Given the description of an element on the screen output the (x, y) to click on. 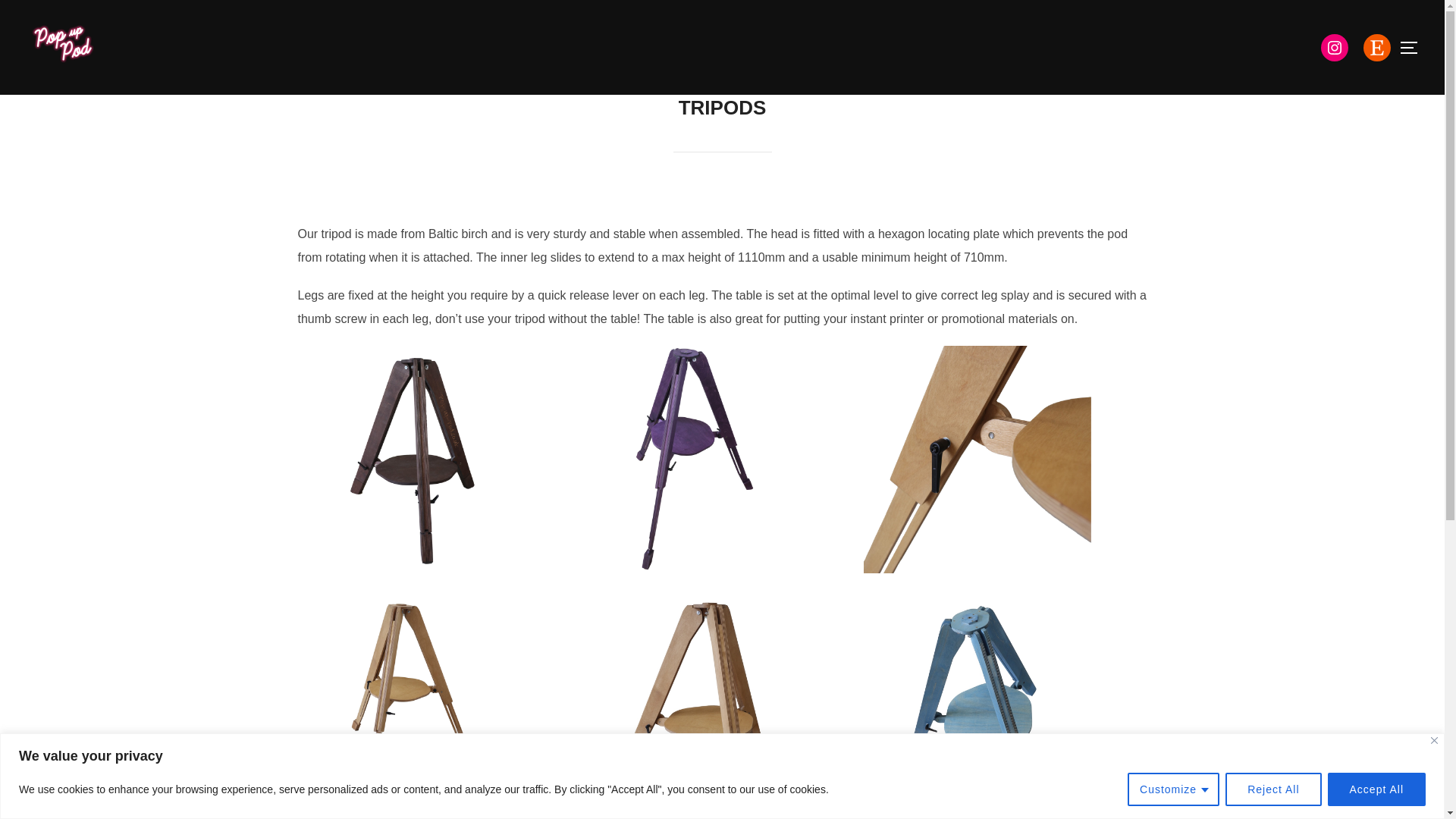
Reject All (1272, 788)
Instagram (1334, 46)
Accept All (1376, 788)
Customize (1173, 788)
Etsy (1376, 46)
